Given the description of an element on the screen output the (x, y) to click on. 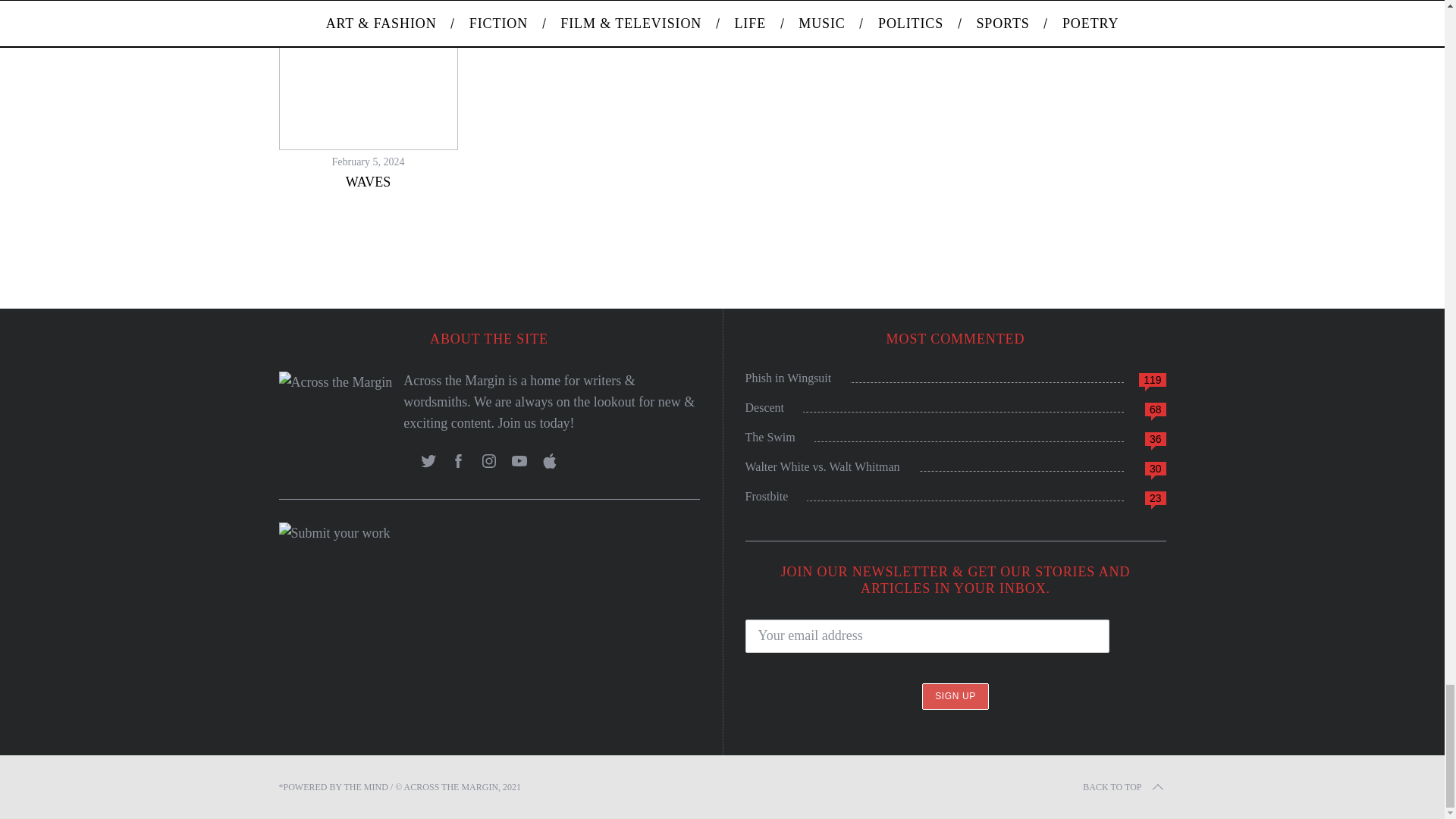
Sign up (954, 696)
WAVES (368, 181)
DESERT STARS (368, 18)
